Given the description of an element on the screen output the (x, y) to click on. 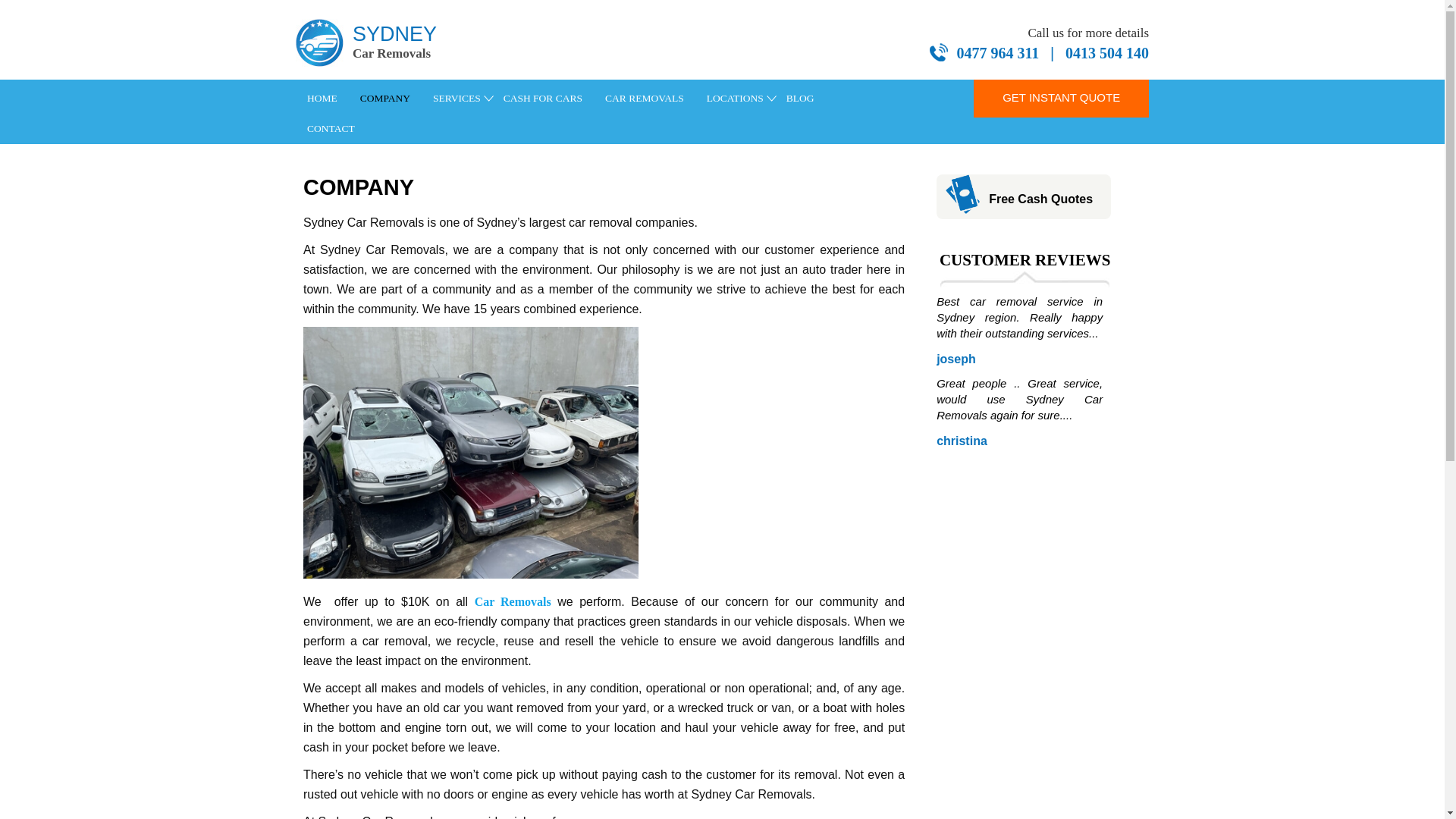
SERVICES (457, 98)
0477 964 311 (997, 53)
Cash For Cars Sydney (543, 98)
COMPANY (385, 98)
CASH FOR CARS (543, 98)
Sydney Car Removals (381, 46)
BLOG (799, 98)
0477 964 311 (997, 53)
HOME (322, 98)
Car Removals (644, 98)
0413 504 140 (1106, 53)
LOCATIONS (734, 98)
COMPANY (385, 98)
CAR REMOVALS (644, 98)
SERVICES (457, 98)
